Given the description of an element on the screen output the (x, y) to click on. 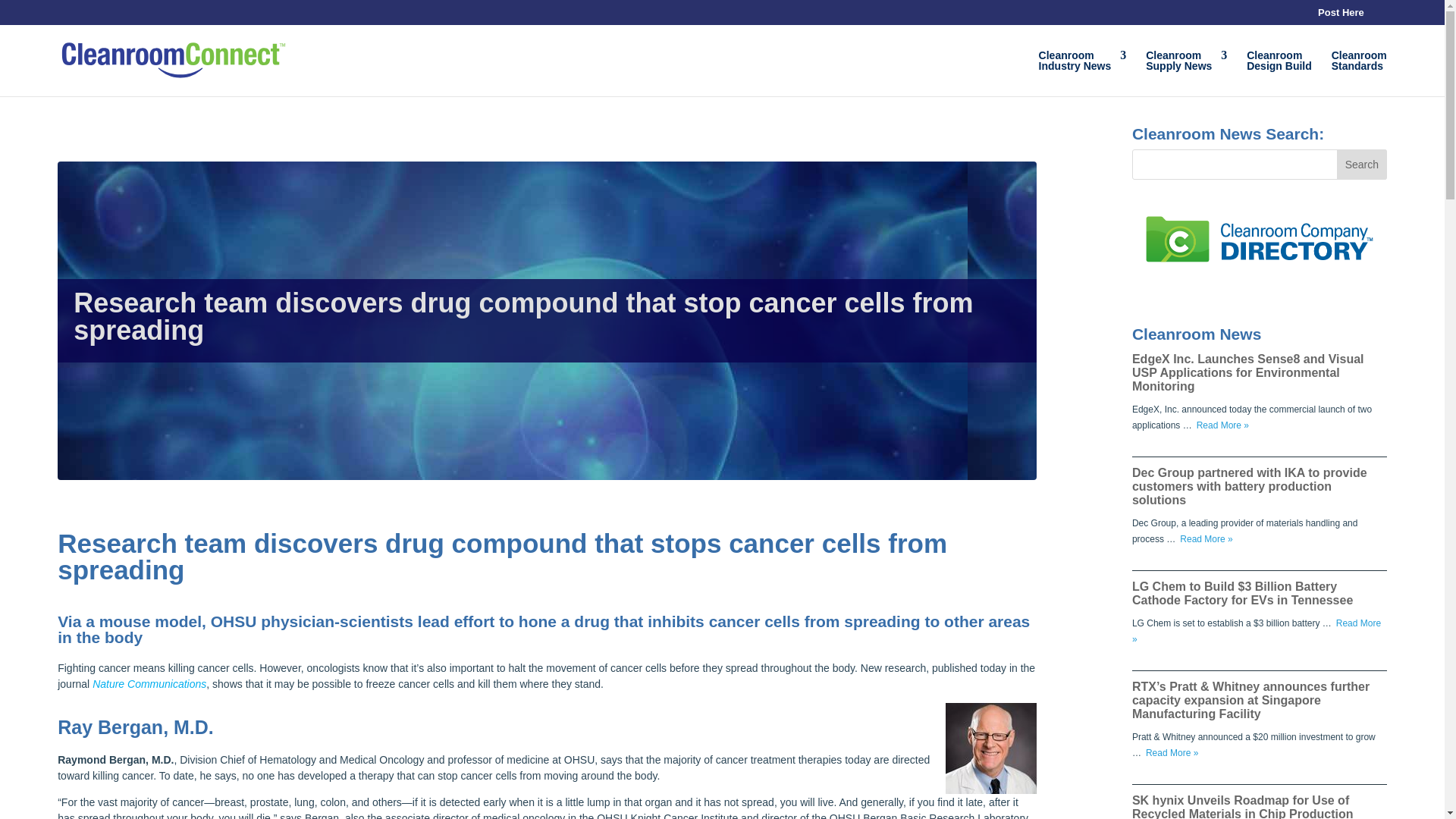
Post Here (1186, 72)
Cleanroom Supply News (1082, 72)
Nature Communications (1340, 16)
Search (1359, 72)
Publish a Cleanroom Article (1186, 72)
Cleanroom News (149, 684)
